Given the description of an element on the screen output the (x, y) to click on. 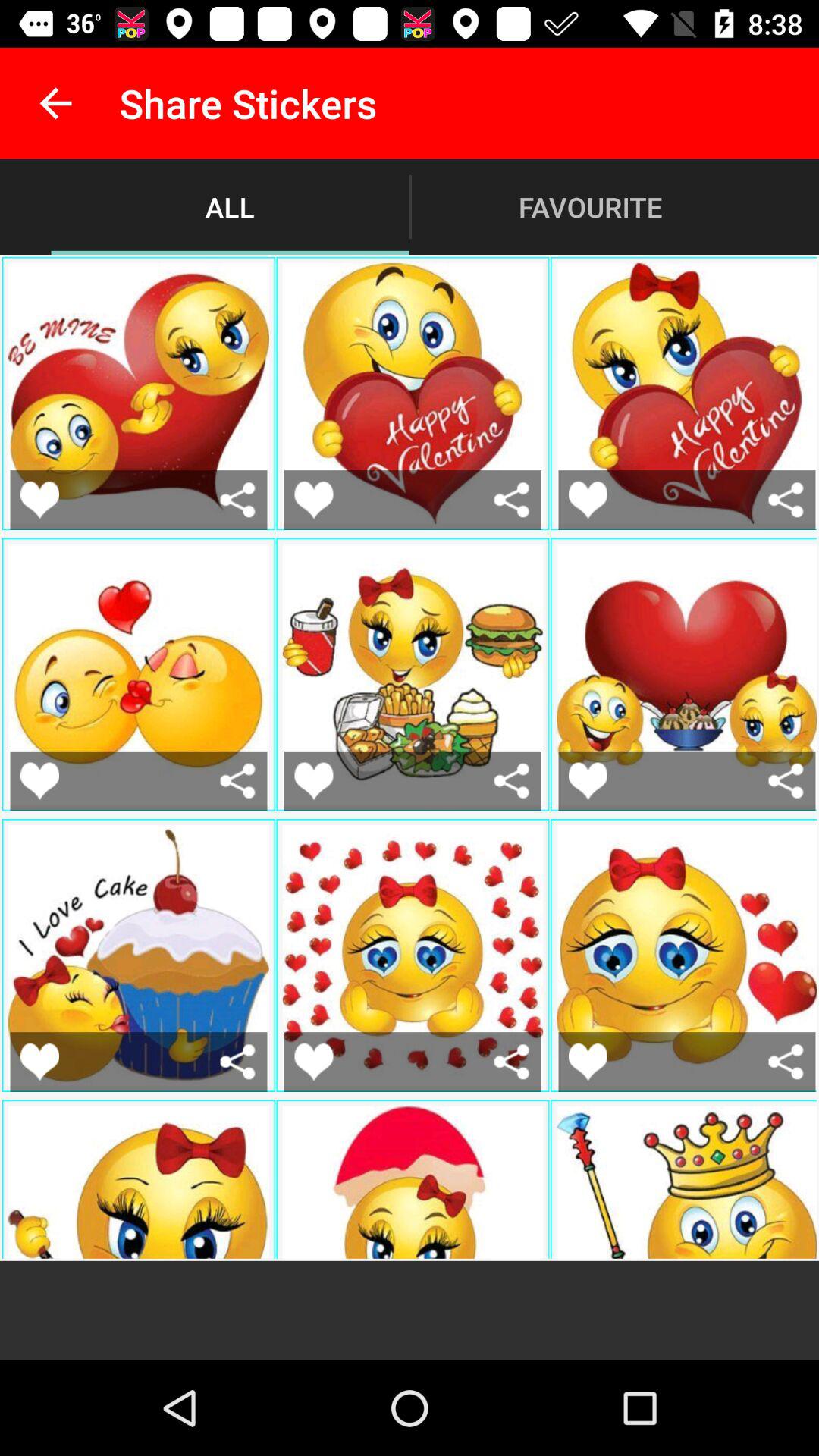
link this sticker (785, 1061)
